Given the description of an element on the screen output the (x, y) to click on. 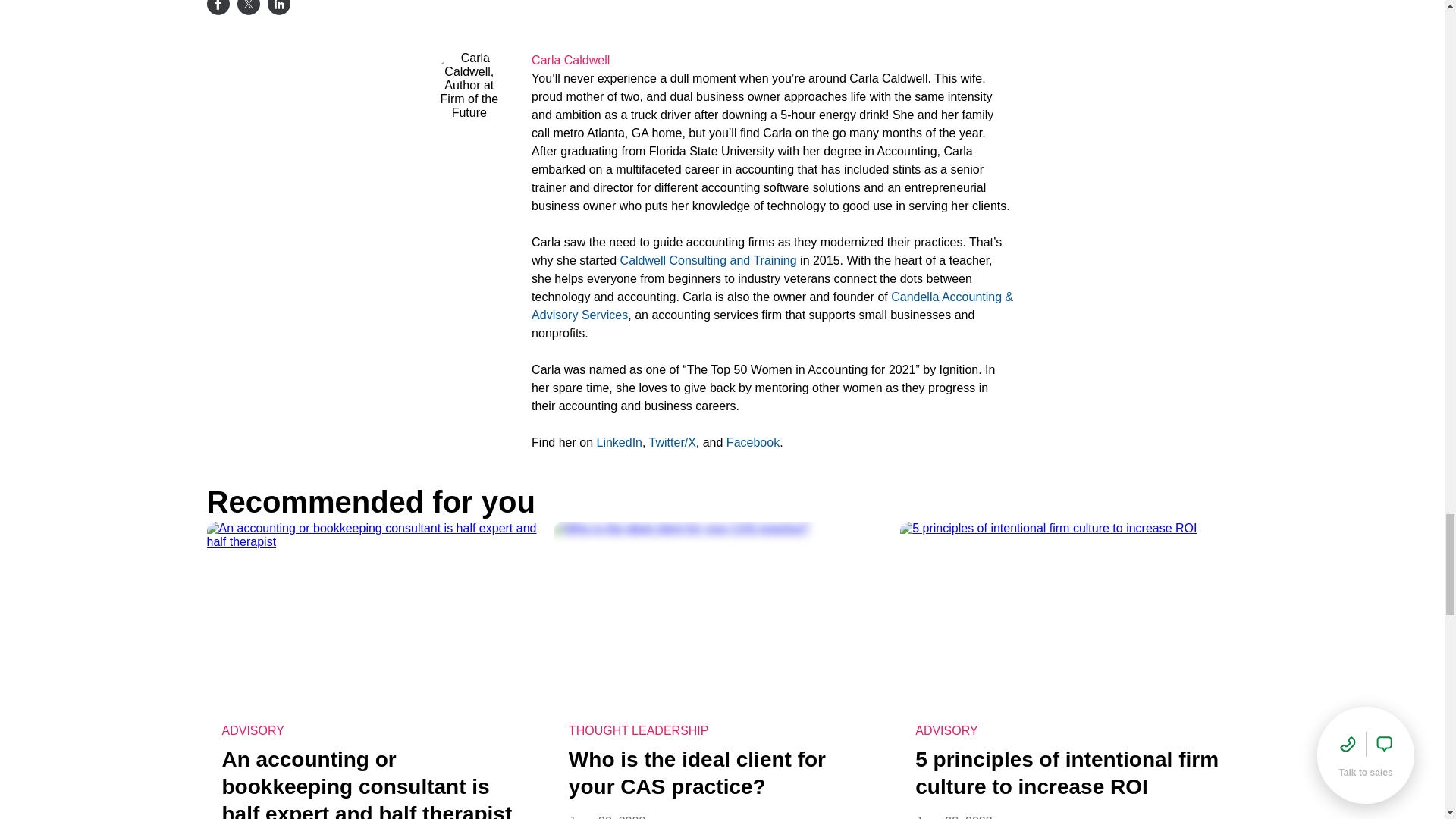
accountant-therapist-us-en (374, 615)
Share on LinkedIn (277, 7)
Share on Facebook (217, 7)
firm-culture-us-en (1068, 615)
client-advisory-service-us-en (722, 615)
Share on Twitter (247, 7)
